Given the description of an element on the screen output the (x, y) to click on. 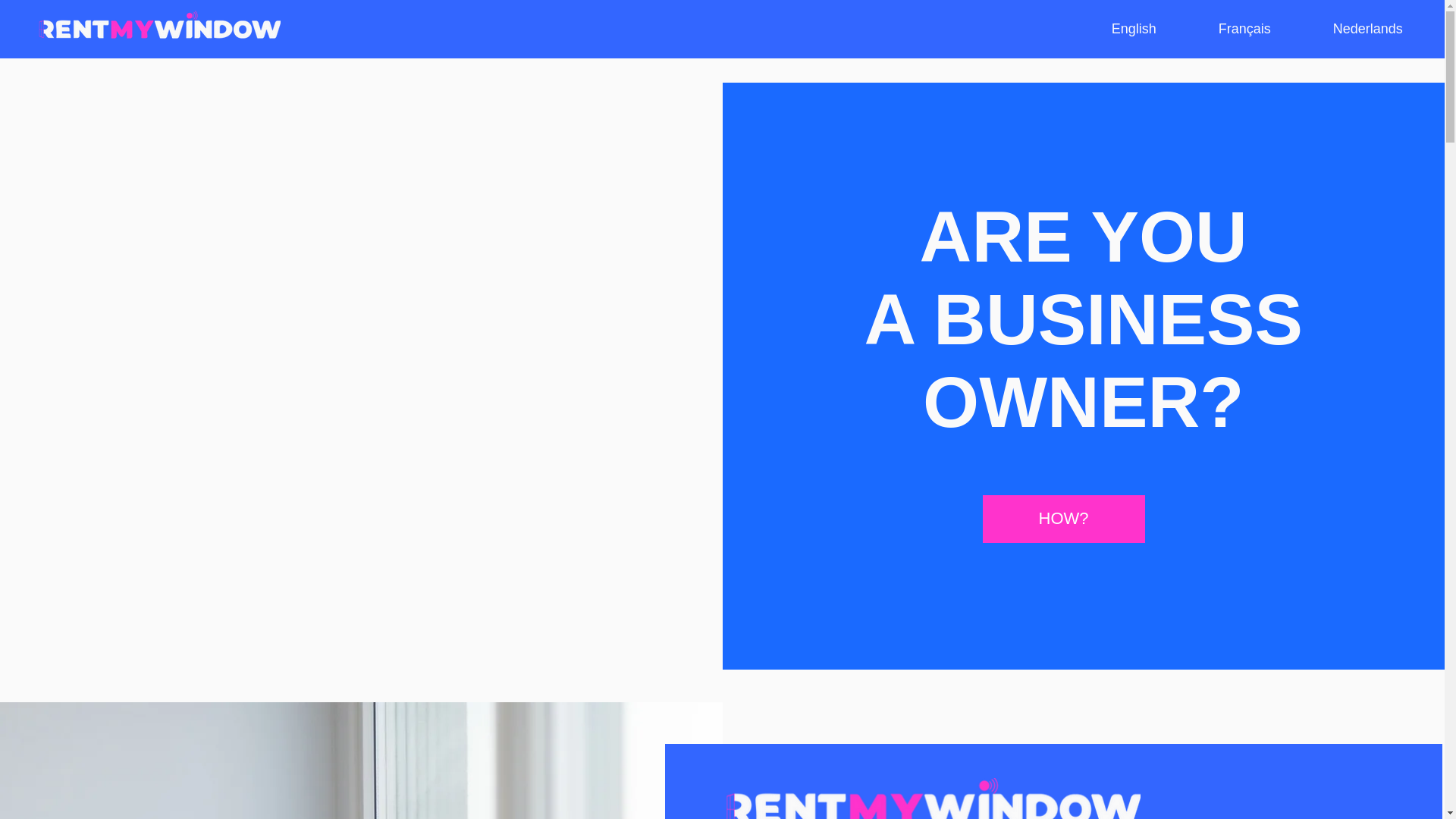
English (1134, 29)
Nederlands (1367, 29)
HOW? (1063, 518)
